Given the description of an element on the screen output the (x, y) to click on. 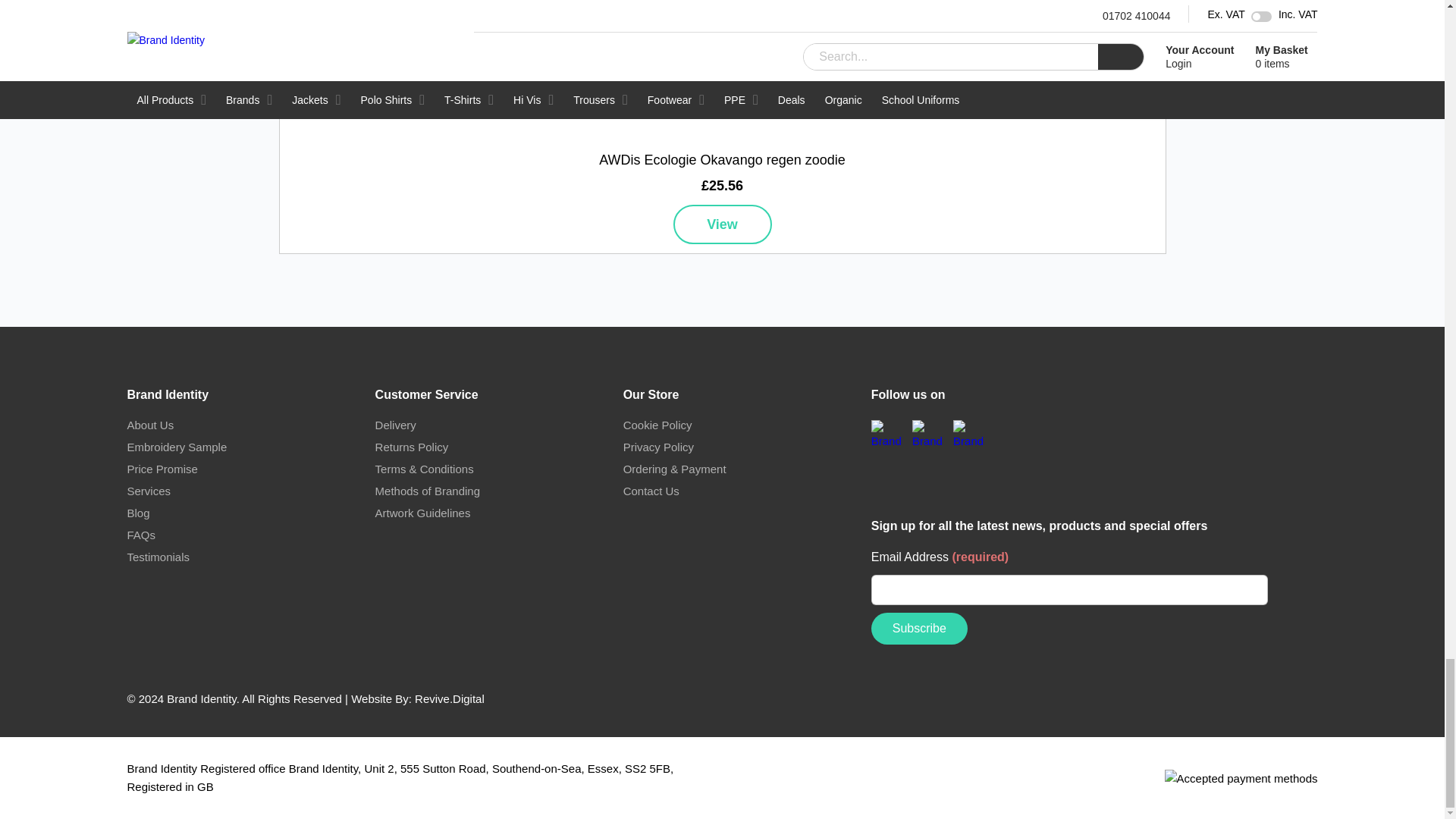
Subscribe (919, 628)
